Given the description of an element on the screen output the (x, y) to click on. 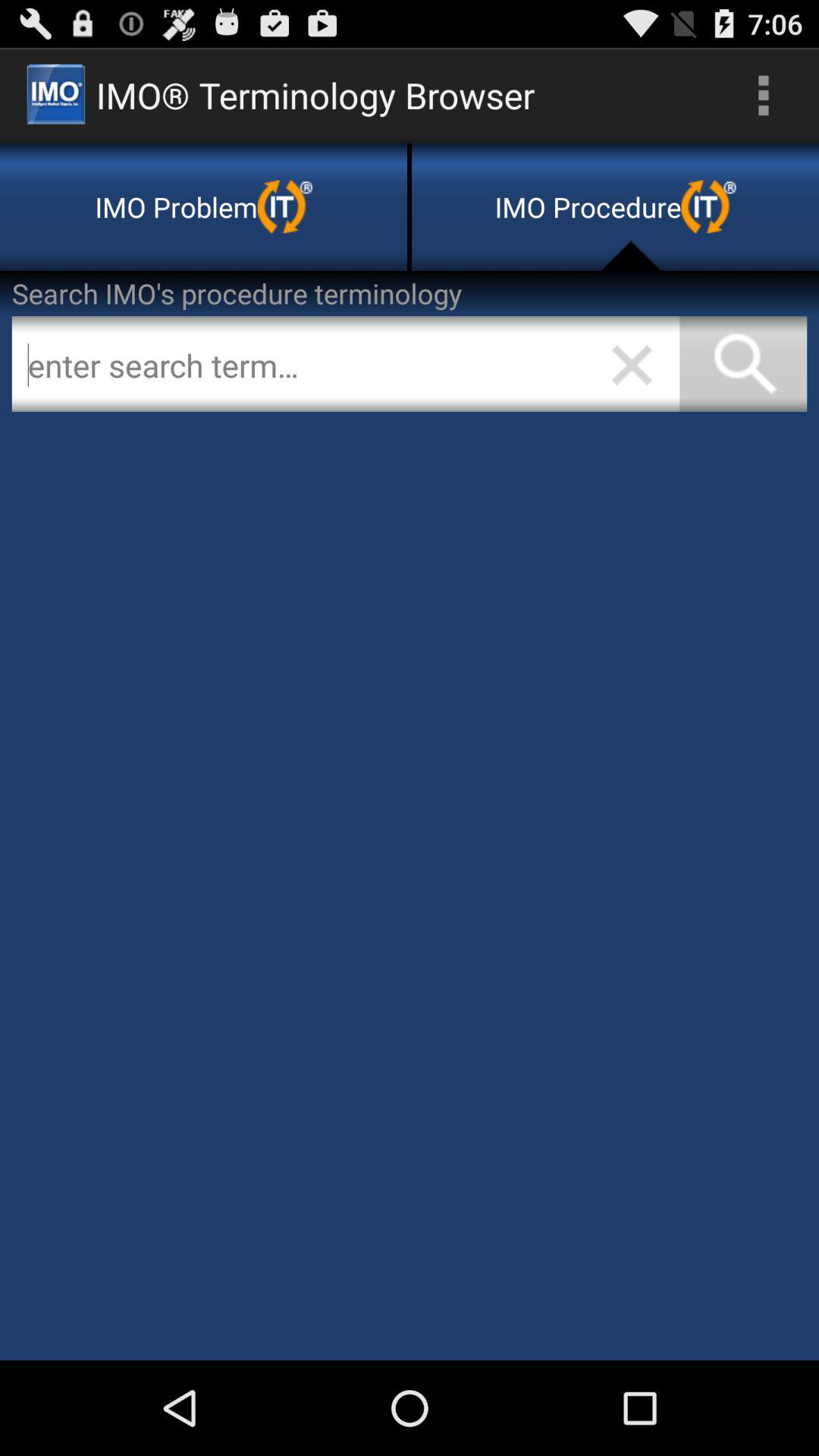
search for a term (345, 363)
